Given the description of an element on the screen output the (x, y) to click on. 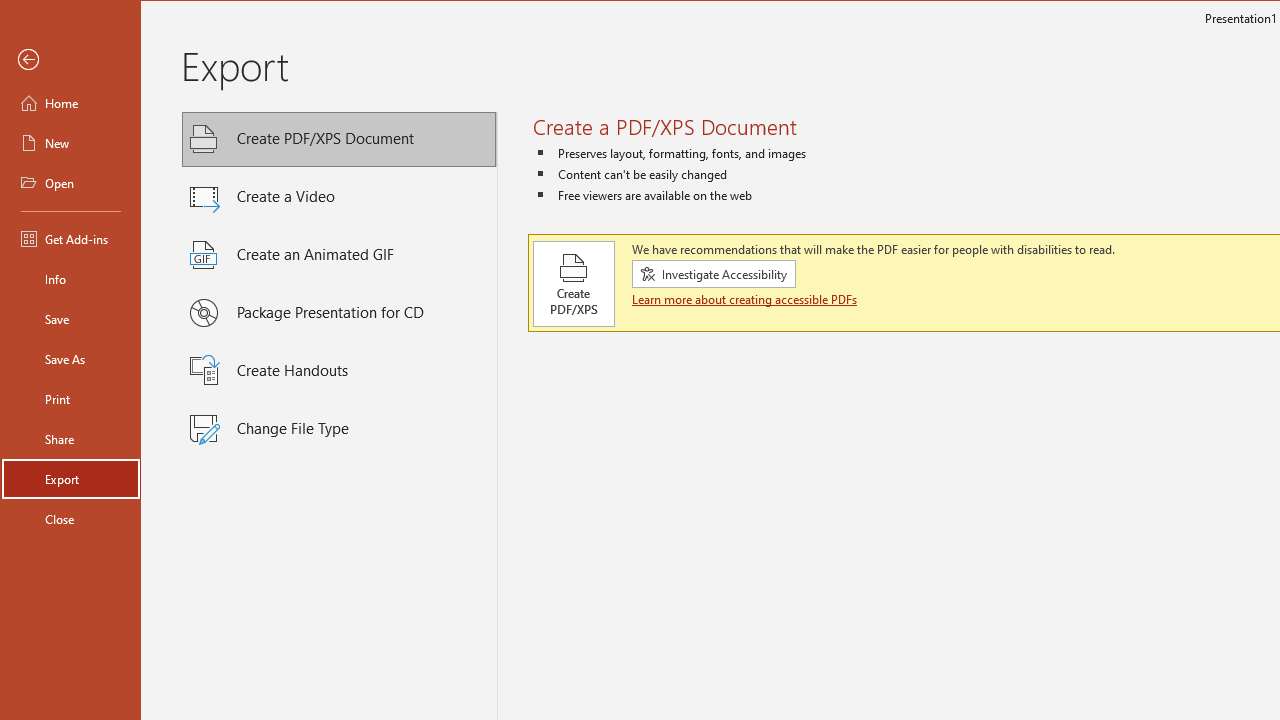
Save As (70, 358)
Learn more about creating accessible PDFs (746, 299)
Create PDF/XPS Document (339, 139)
Create Handouts (339, 371)
Info (70, 278)
Export (70, 478)
Investigate Accessibility (714, 273)
Package Presentation for CD (339, 313)
Create an Animated GIF (339, 255)
Print (70, 398)
